Given the description of an element on the screen output the (x, y) to click on. 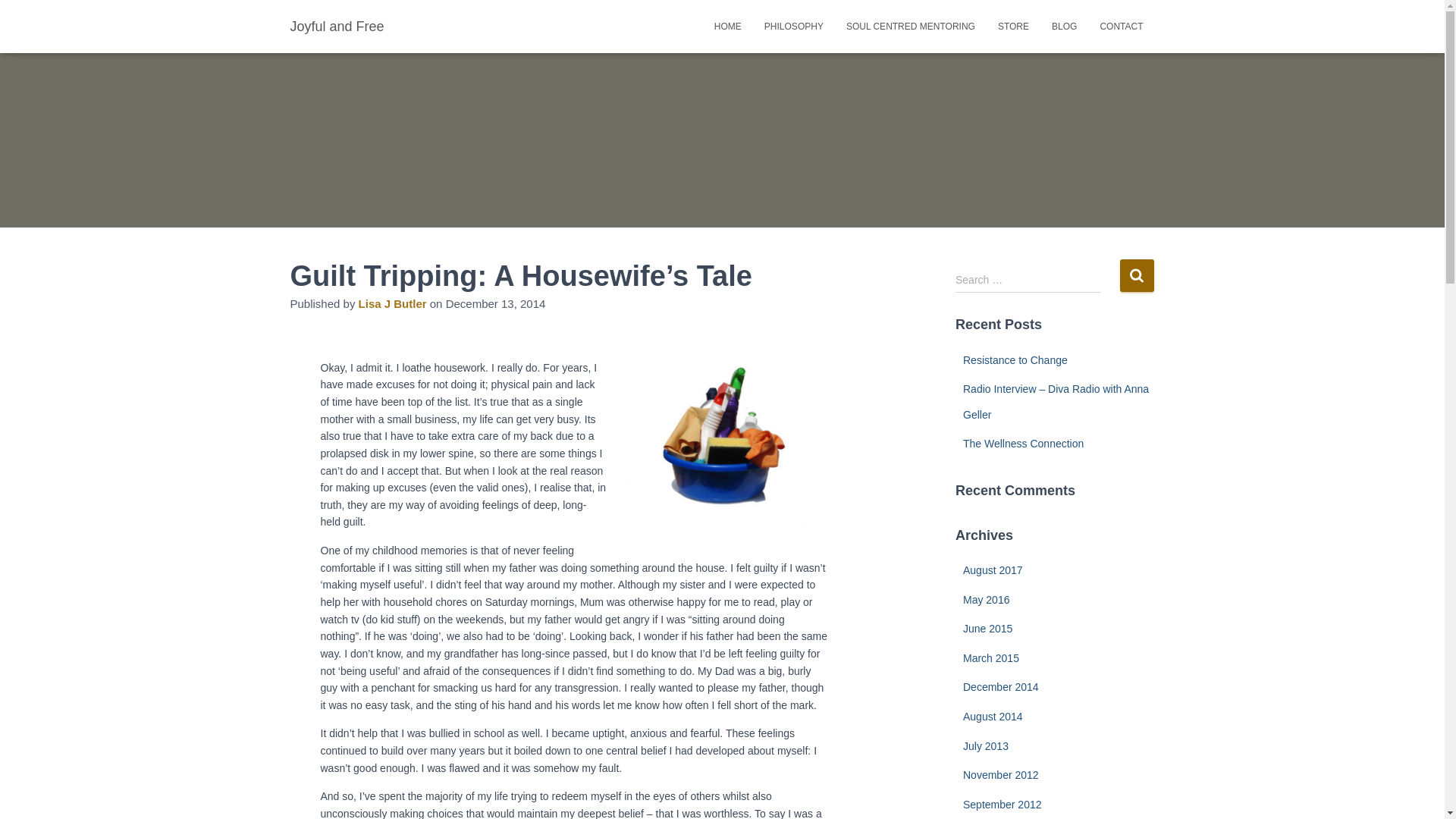
Search Element type: text (1136, 275)
Lisa J Butler Element type: text (392, 303)
July 2013 Element type: text (985, 746)
August 2017 Element type: text (992, 570)
May 2016 Element type: text (986, 599)
SOUL CENTRED MENTORING Element type: text (910, 26)
HOME Element type: text (727, 26)
September 2012 Element type: text (1002, 804)
BLOG Element type: text (1064, 26)
The Wellness Connection Element type: text (1023, 443)
March 2015 Element type: text (991, 658)
August 2014 Element type: text (992, 716)
PHILOSOPHY Element type: text (793, 26)
CONTACT Element type: text (1121, 26)
Resistance to Change Element type: text (1015, 360)
December 2014 Element type: text (1000, 686)
Joyful and Free Element type: text (337, 26)
November 2012 Element type: text (1000, 774)
June 2015 Element type: text (987, 628)
STORE Element type: text (1013, 26)
